Given the description of an element on the screen output the (x, y) to click on. 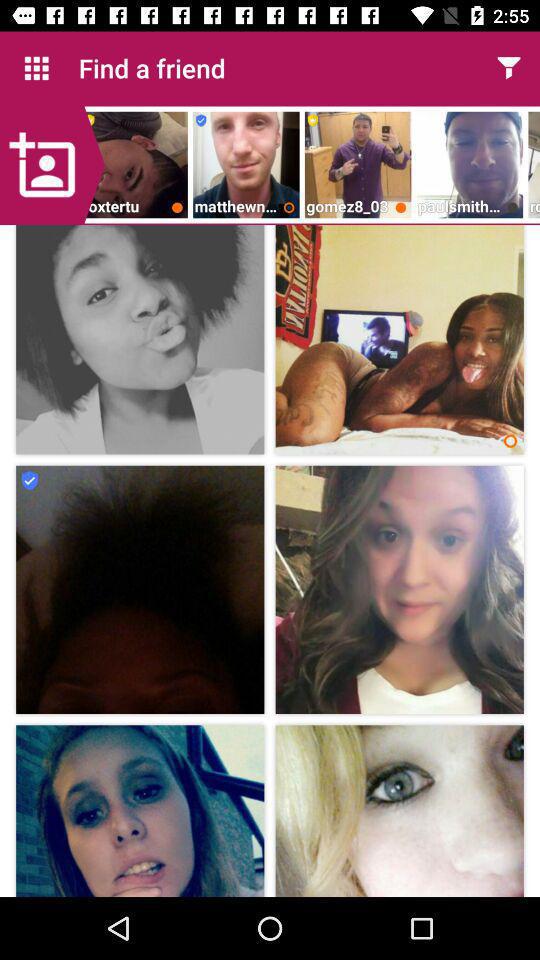
profile (52, 165)
